Given the description of an element on the screen output the (x, y) to click on. 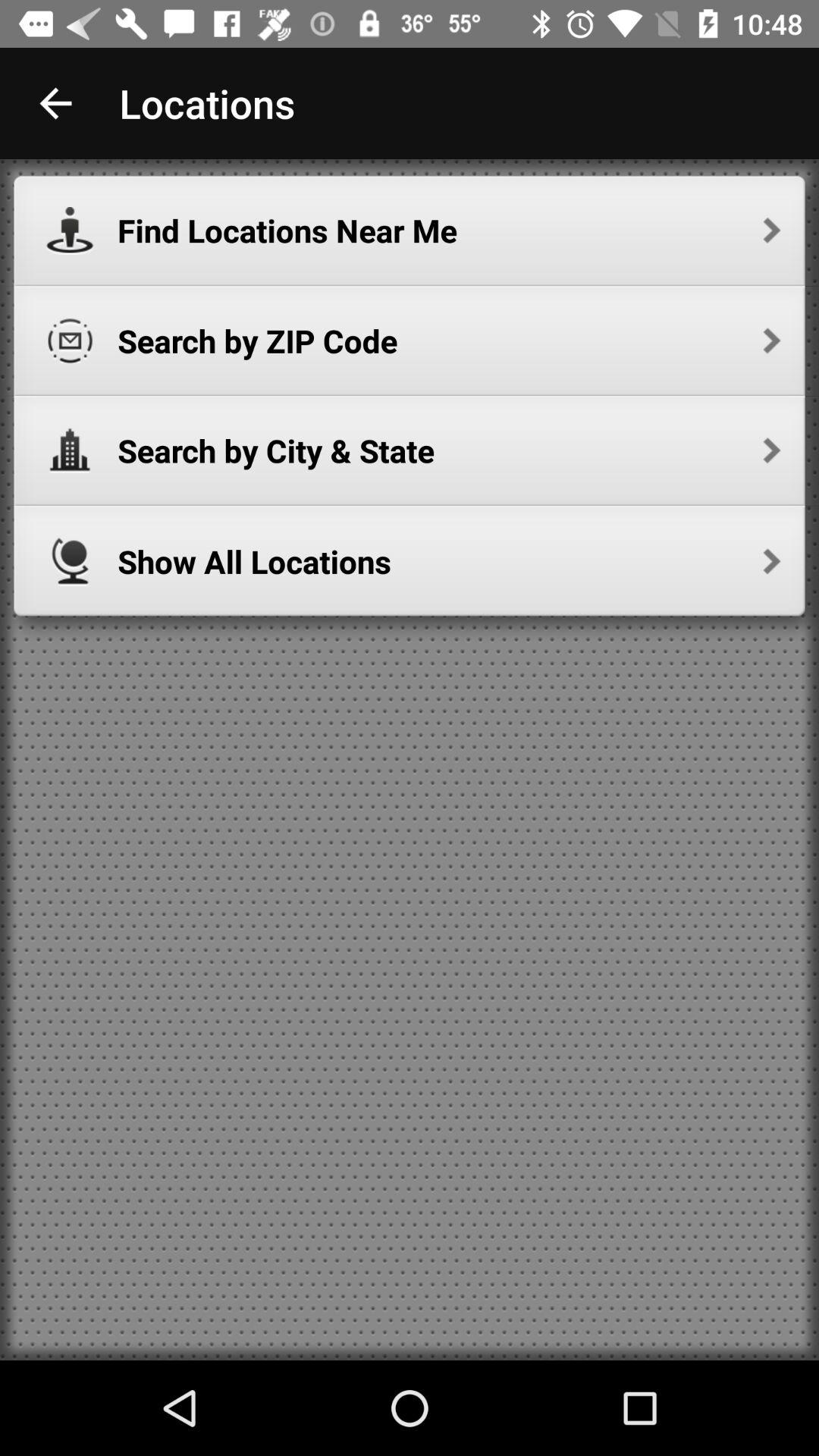
select show all locations at the center (448, 561)
